Given the description of an element on the screen output the (x, y) to click on. 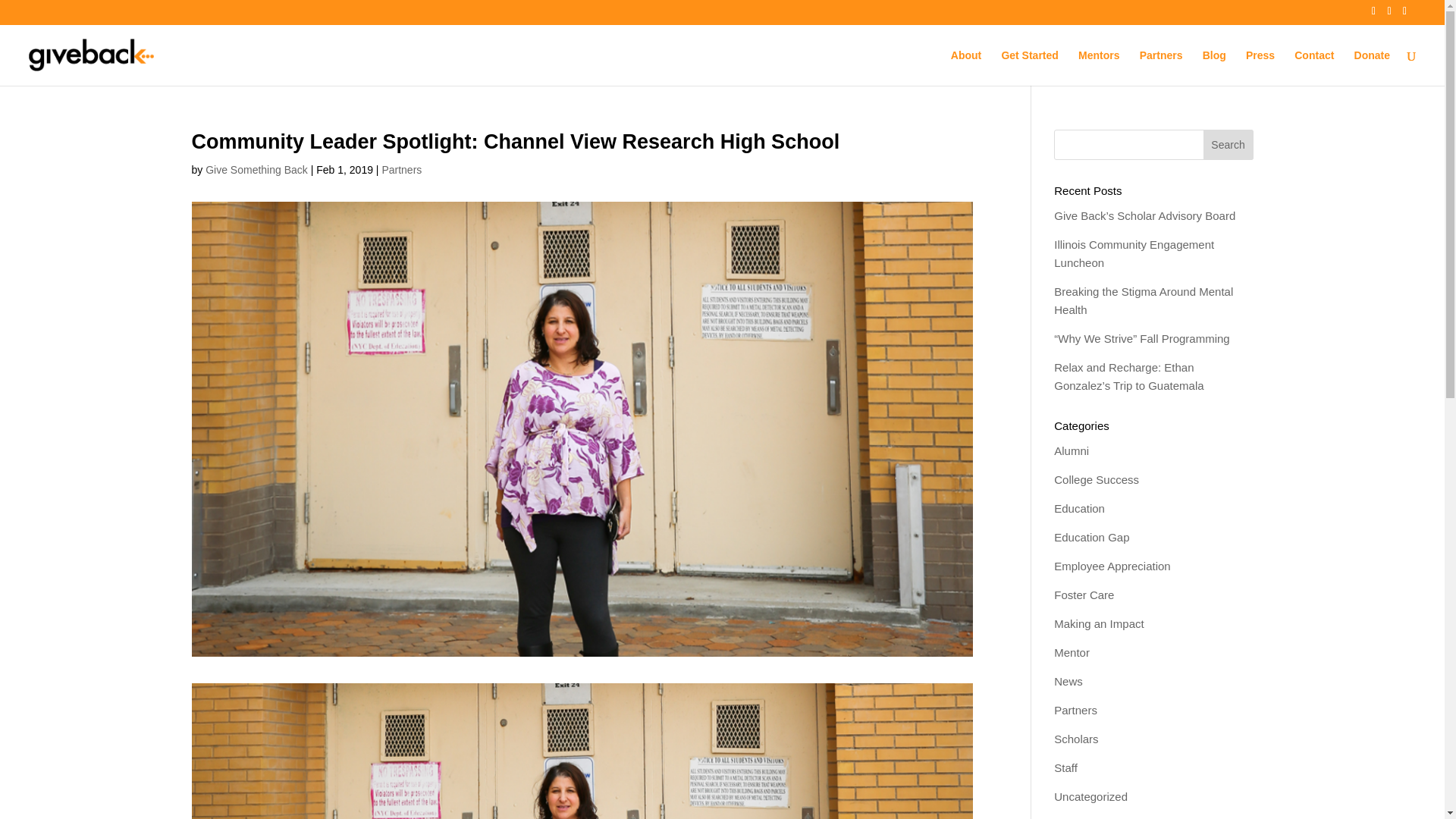
Staff (1065, 767)
Employee Appreciation (1112, 565)
Get Started (1029, 67)
Foster Care (1083, 594)
Alumni (1071, 450)
Posts by Give Something Back (256, 169)
Illinois Community Engagement Luncheon (1134, 253)
Mentor (1071, 652)
Partners (1161, 67)
Partners (1075, 709)
Partners (401, 169)
Search (1228, 143)
Breaking the Stigma Around Mental Health (1143, 300)
Education Gap (1091, 536)
Mentors (1098, 67)
